Given the description of an element on the screen output the (x, y) to click on. 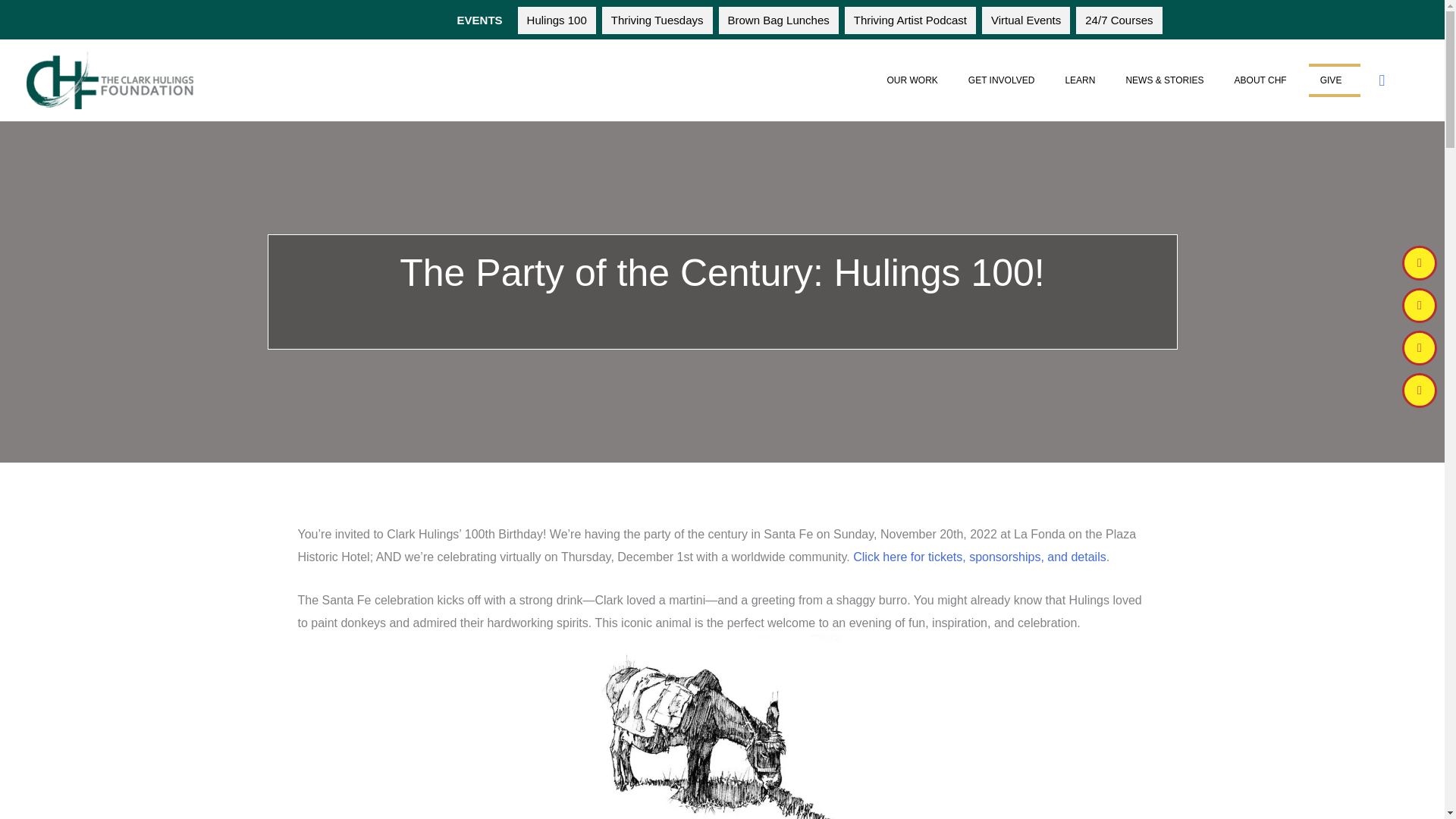
Artist Podcast (909, 20)
Thriving Artist Podcast (909, 20)
EVENTS (480, 20)
Brown Bag Lunches (778, 20)
Virtual Events (1025, 20)
Creative Entrepreneur Courses (1118, 20)
OUR WORK (915, 80)
Art Business Webinars (657, 20)
Events for Creative Entrepreneurs (1025, 20)
Hulings 100 (556, 20)
